Given the description of an element on the screen output the (x, y) to click on. 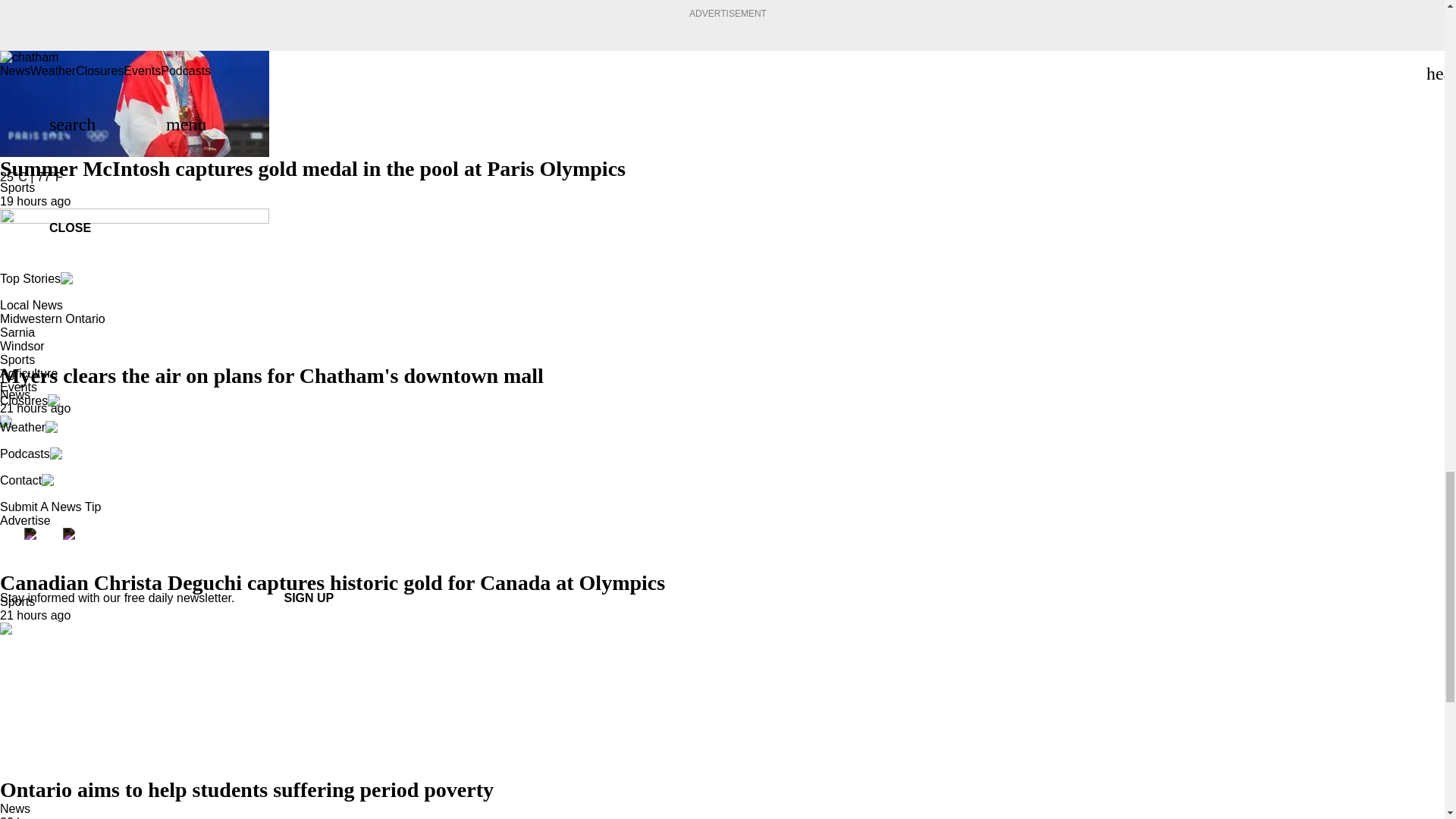
Sports (17, 187)
